Given the description of an element on the screen output the (x, y) to click on. 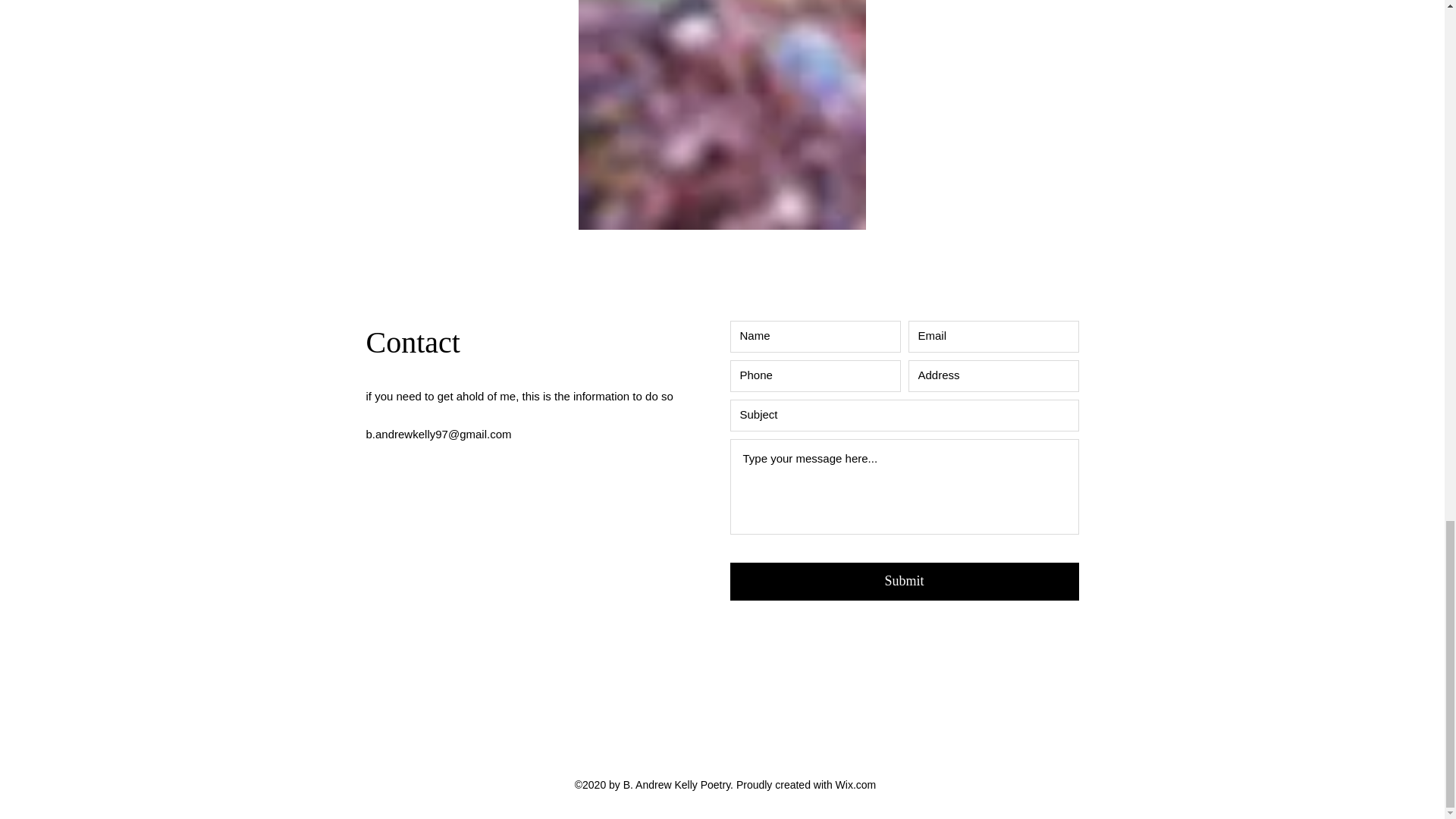
Submit (903, 581)
